Given the description of an element on the screen output the (x, y) to click on. 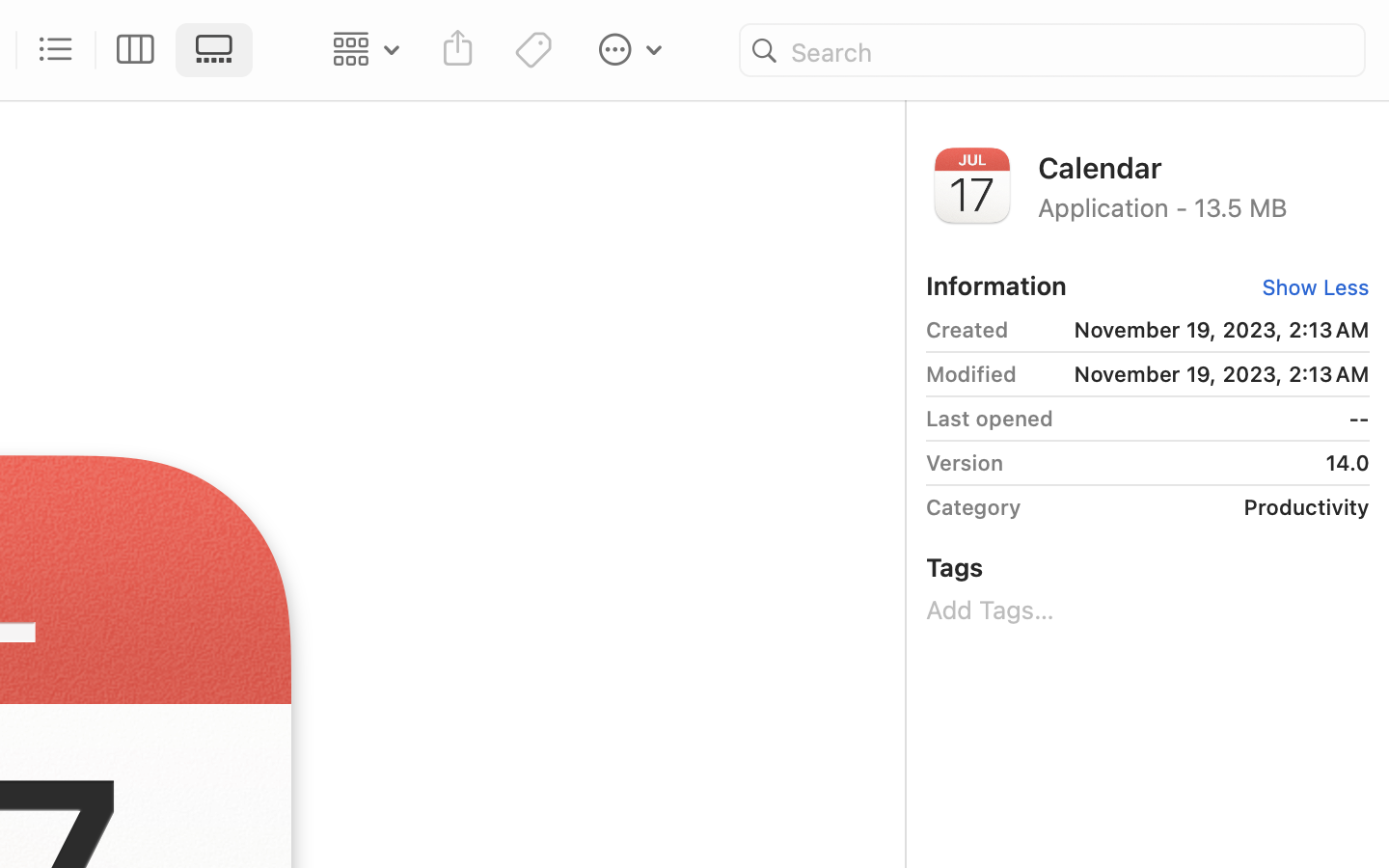
14.0 Element type: AXStaticText (1192, 462)
Productivity Element type: AXStaticText (1201, 506)
Category Element type: AXStaticText (973, 506)
Application - 13.5 MB Element type: AXStaticText (1203, 205)
Last opened Element type: AXStaticText (989, 418)
